Given the description of an element on the screen output the (x, y) to click on. 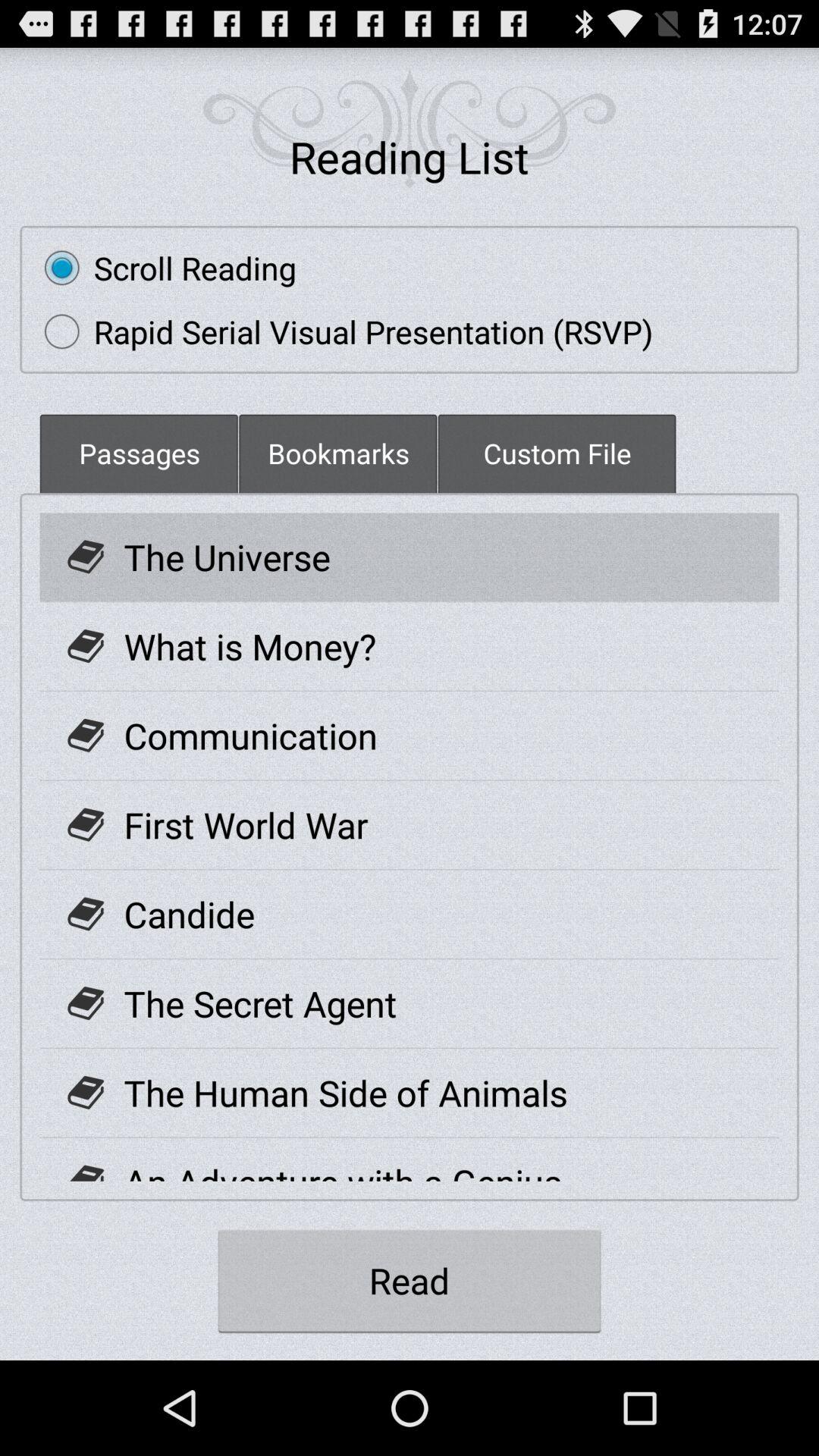
choose the item below candide item (260, 1003)
